Given the description of an element on the screen output the (x, y) to click on. 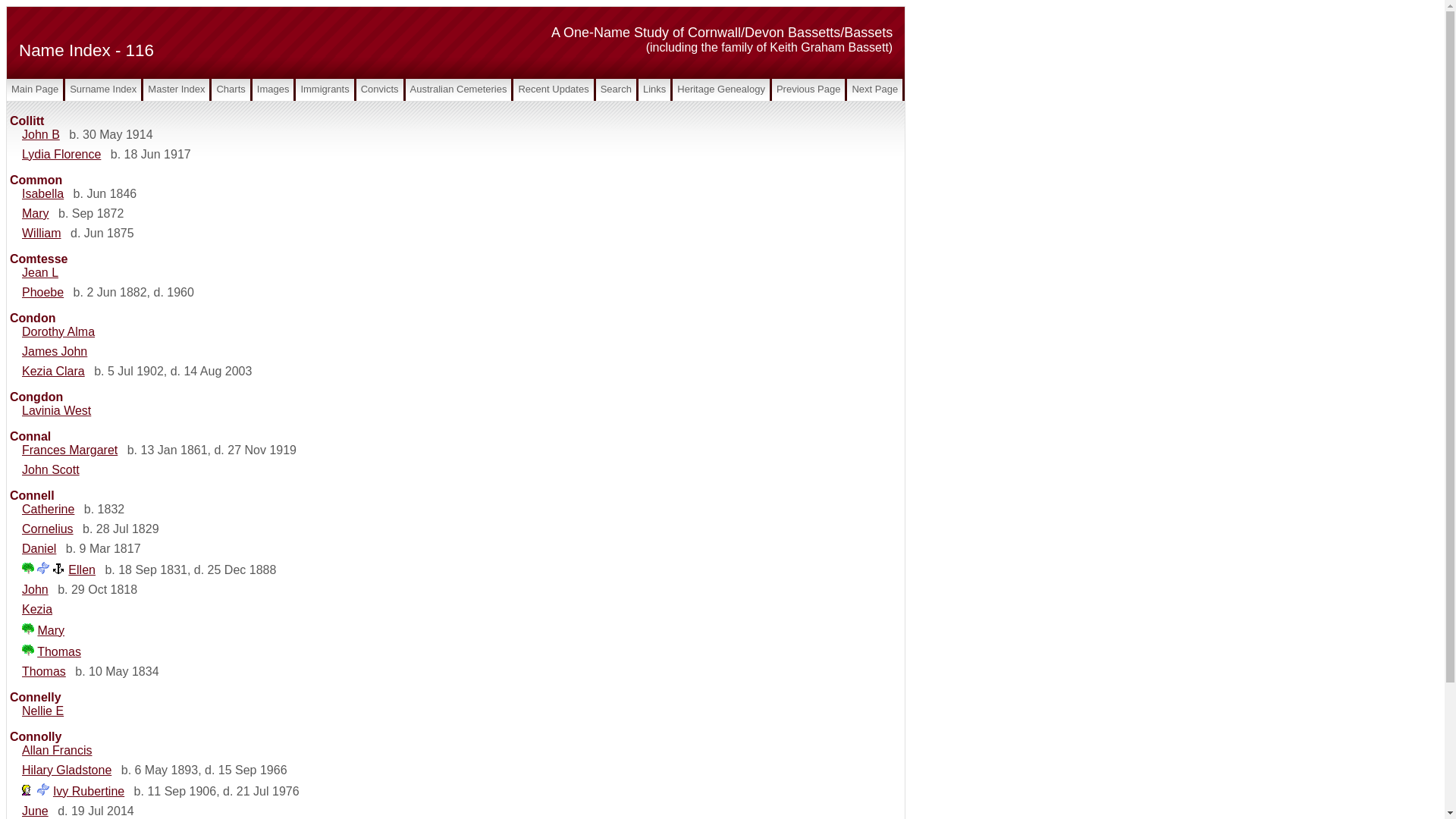
John Scott Element type: text (50, 469)
Thomas Element type: text (43, 671)
Catherine Element type: text (47, 508)
Next Page Element type: text (874, 89)
Master Index Element type: text (176, 89)
Mary Element type: text (50, 630)
Daniel Element type: text (38, 548)
Kezia Clara Element type: text (52, 370)
Hilary Gladstone Element type: text (66, 769)
Allan Francis Element type: text (56, 749)
Frances Margaret Element type: text (69, 449)
Lydia Florence Element type: text (60, 153)
Immigrants Element type: text (324, 89)
Convicts Element type: text (379, 89)
Australian Cemeteries Element type: text (458, 89)
Jean L Element type: text (39, 272)
Cornelius Element type: text (47, 528)
Ellen Element type: text (81, 569)
Heritage Genealogy Element type: text (720, 89)
Charts Element type: text (230, 89)
Thomas Element type: text (59, 651)
Nellie E Element type: text (42, 710)
Mary Element type: text (35, 213)
Previous Page Element type: text (808, 89)
John B Element type: text (40, 134)
John Element type: text (34, 589)
William Element type: text (41, 232)
Surname Index Element type: text (103, 89)
Main Page Element type: text (34, 89)
James John Element type: text (54, 351)
Links Element type: text (654, 89)
Search Element type: text (616, 89)
Dorothy Alma Element type: text (57, 331)
Recent Updates Element type: text (553, 89)
Isabella Element type: text (42, 193)
Ivy Rubertine Element type: text (88, 790)
June Element type: text (34, 810)
Images Element type: text (273, 89)
Phoebe Element type: text (42, 291)
Lavinia West Element type: text (56, 410)
Kezia Element type: text (36, 608)
